Given the description of an element on the screen output the (x, y) to click on. 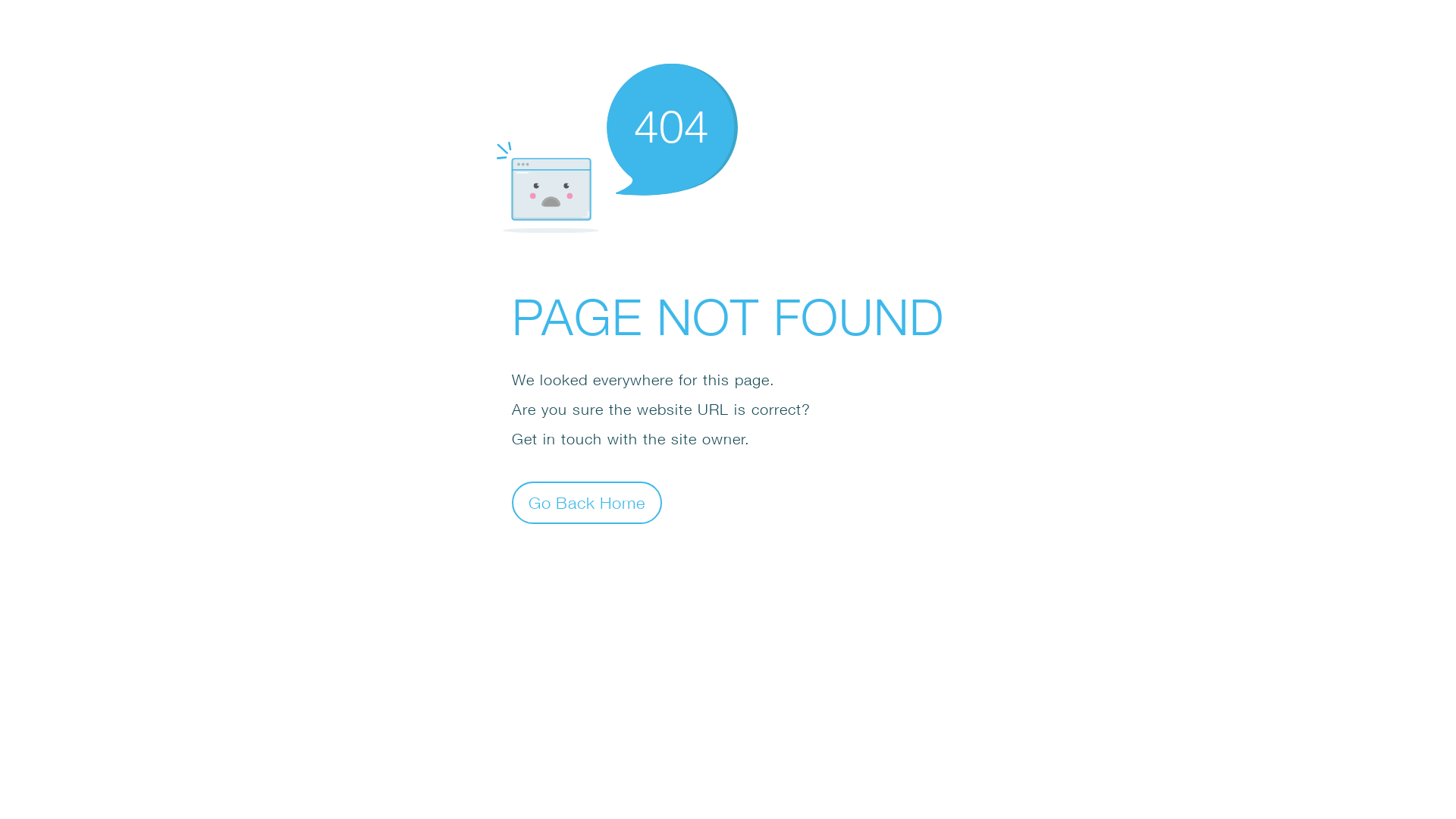
Go Back Home Element type: text (586, 502)
